Given the description of an element on the screen output the (x, y) to click on. 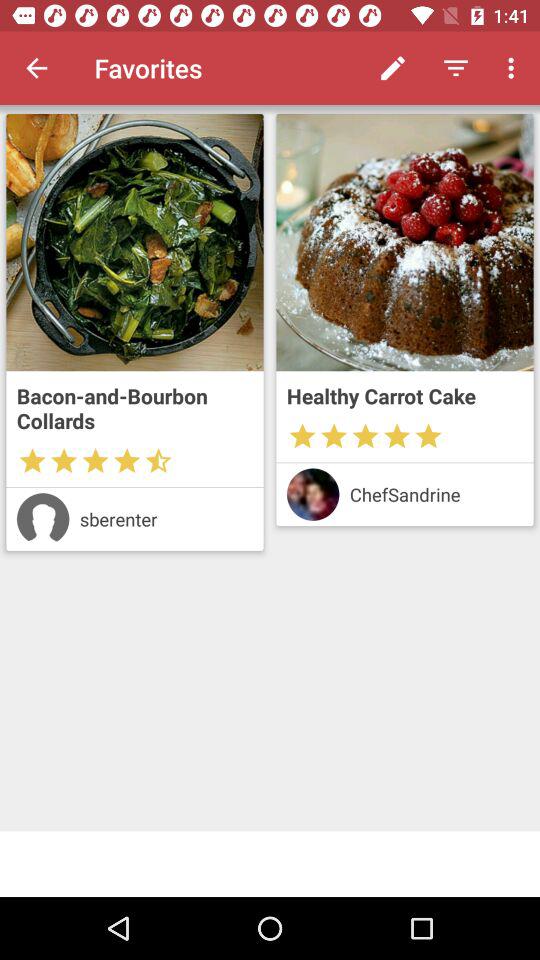
open healthy carrot cake recipe (404, 242)
